Given the description of an element on the screen output the (x, y) to click on. 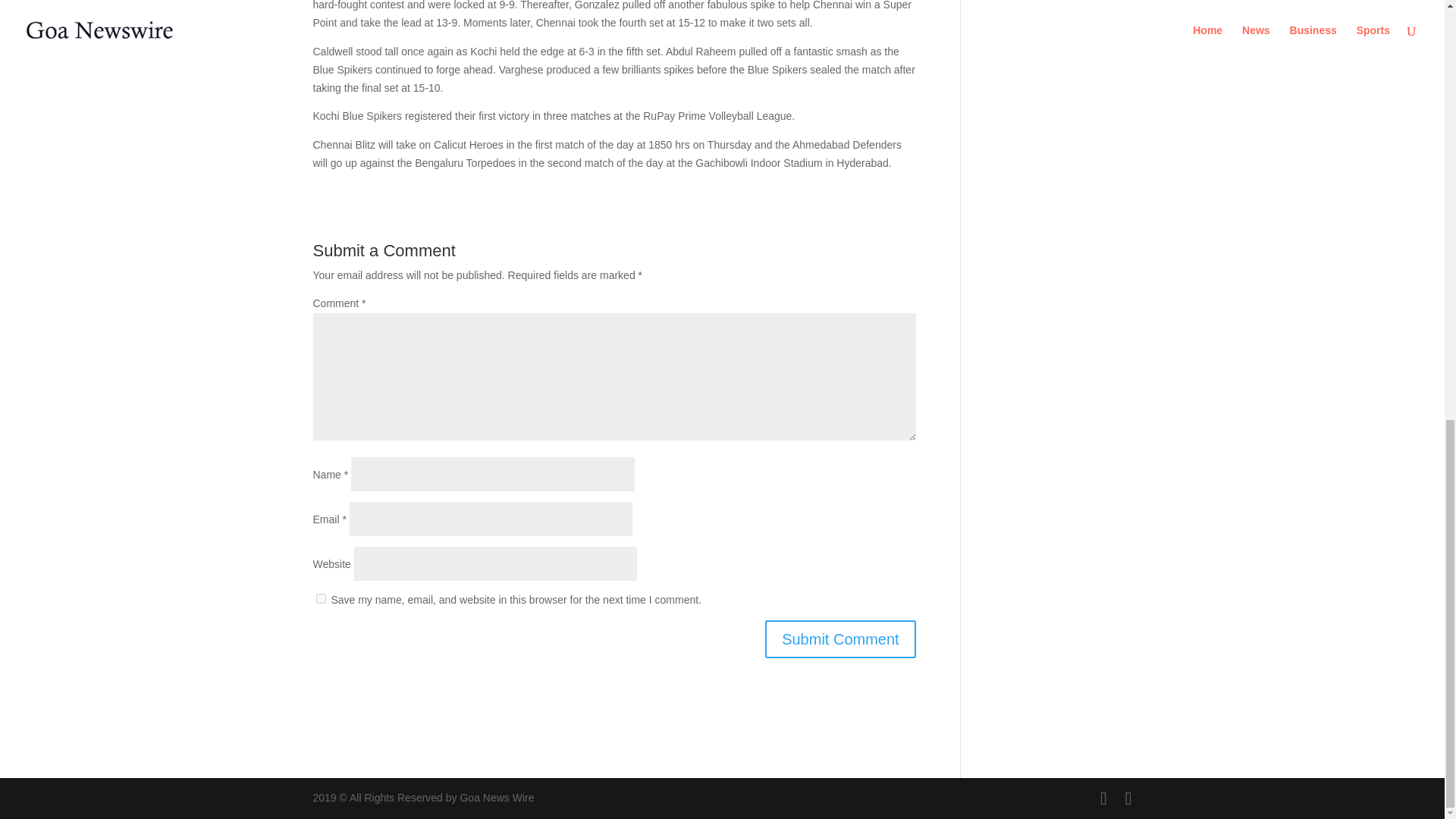
Submit Comment (840, 638)
Submit Comment (840, 638)
yes (319, 598)
